Given the description of an element on the screen output the (x, y) to click on. 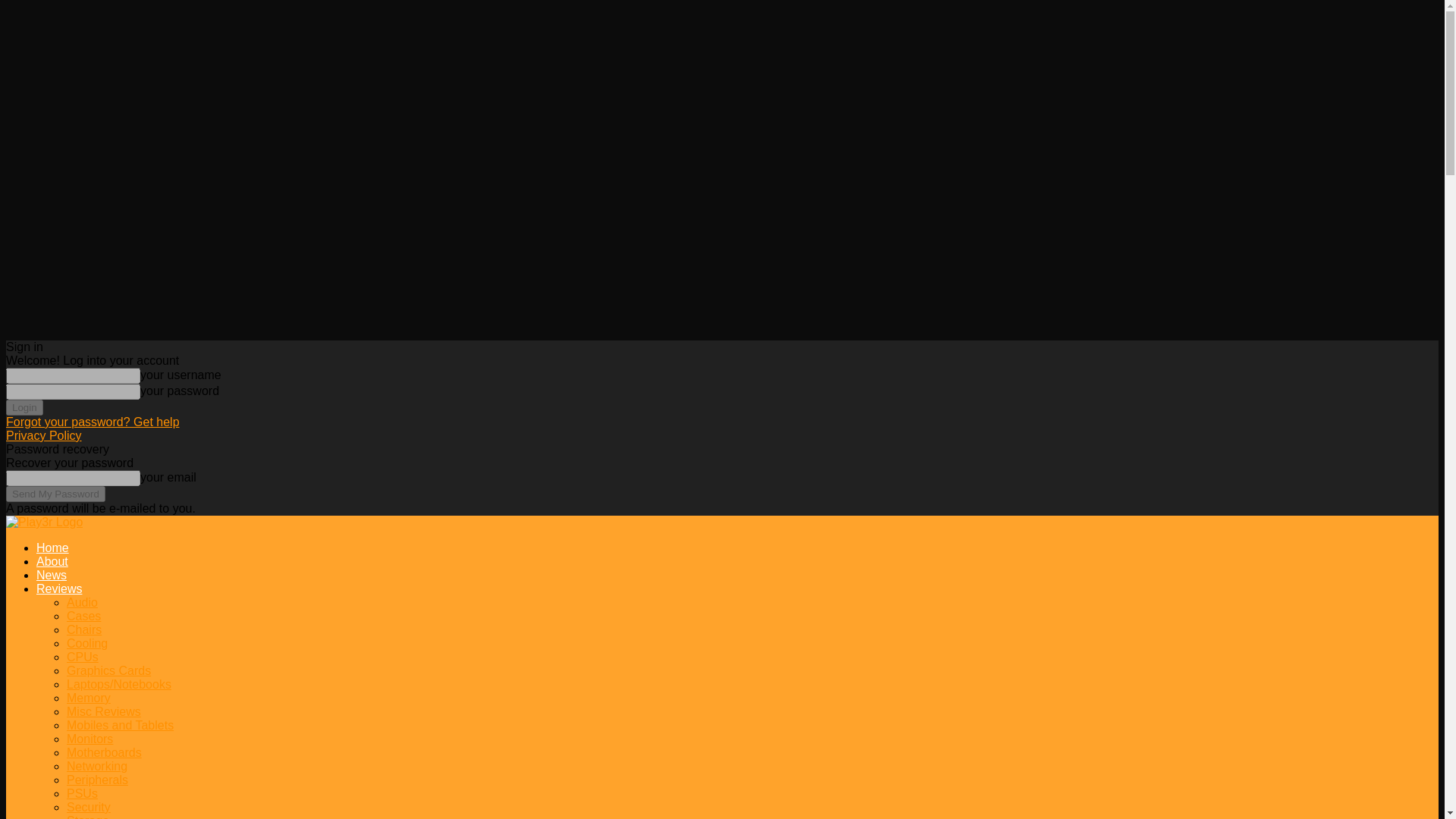
Chairs (83, 629)
Cases (83, 615)
Login (24, 407)
Reviews (58, 588)
News (51, 574)
Send My Password (54, 494)
Cooling (86, 643)
Forgot your password? Get help (92, 421)
Audio (81, 602)
Privacy Policy (43, 435)
